Given the description of an element on the screen output the (x, y) to click on. 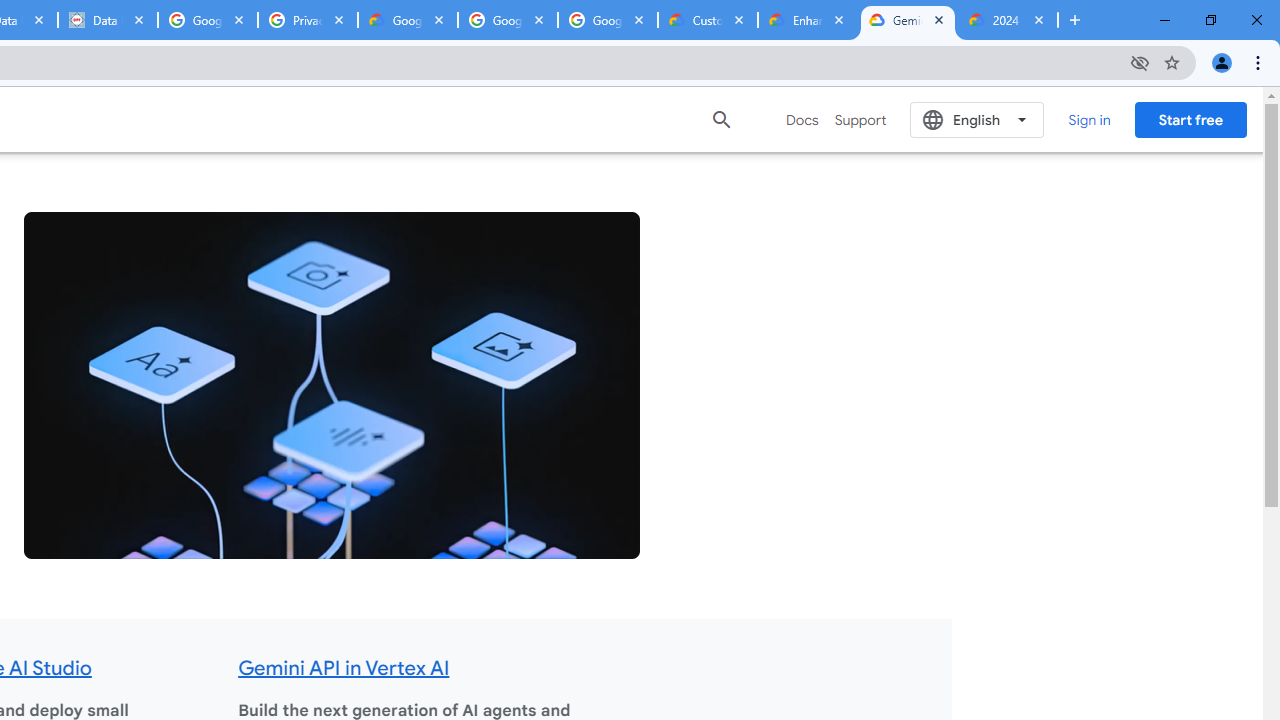
Customer Care | Google Cloud (707, 20)
Google Workspace - Specific Terms (508, 20)
Enhanced Support | Google Cloud (807, 20)
